Given the description of an element on the screen output the (x, y) to click on. 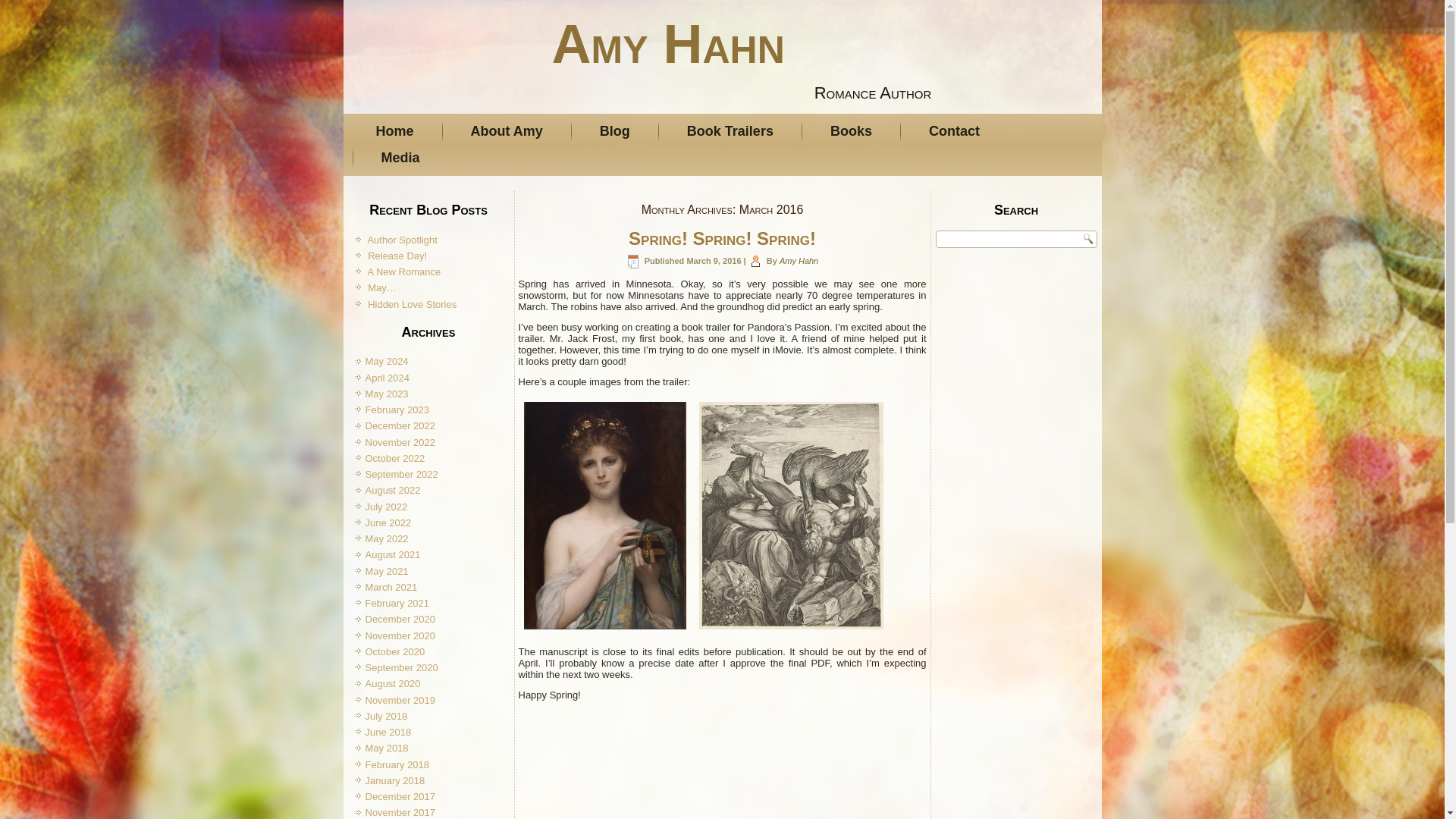
October 2022 (395, 458)
August 2022 (392, 490)
February 2021 (397, 603)
June 2022 (388, 522)
Media (401, 157)
Books (850, 130)
Home (394, 130)
December 2020 (400, 618)
August 2020 (392, 683)
Books (850, 130)
September 2022 (401, 473)
November 2019 (400, 699)
November 2022 (400, 441)
Amy Hahn (667, 43)
View all posts by Amy Hahn (798, 260)
